Given the description of an element on the screen output the (x, y) to click on. 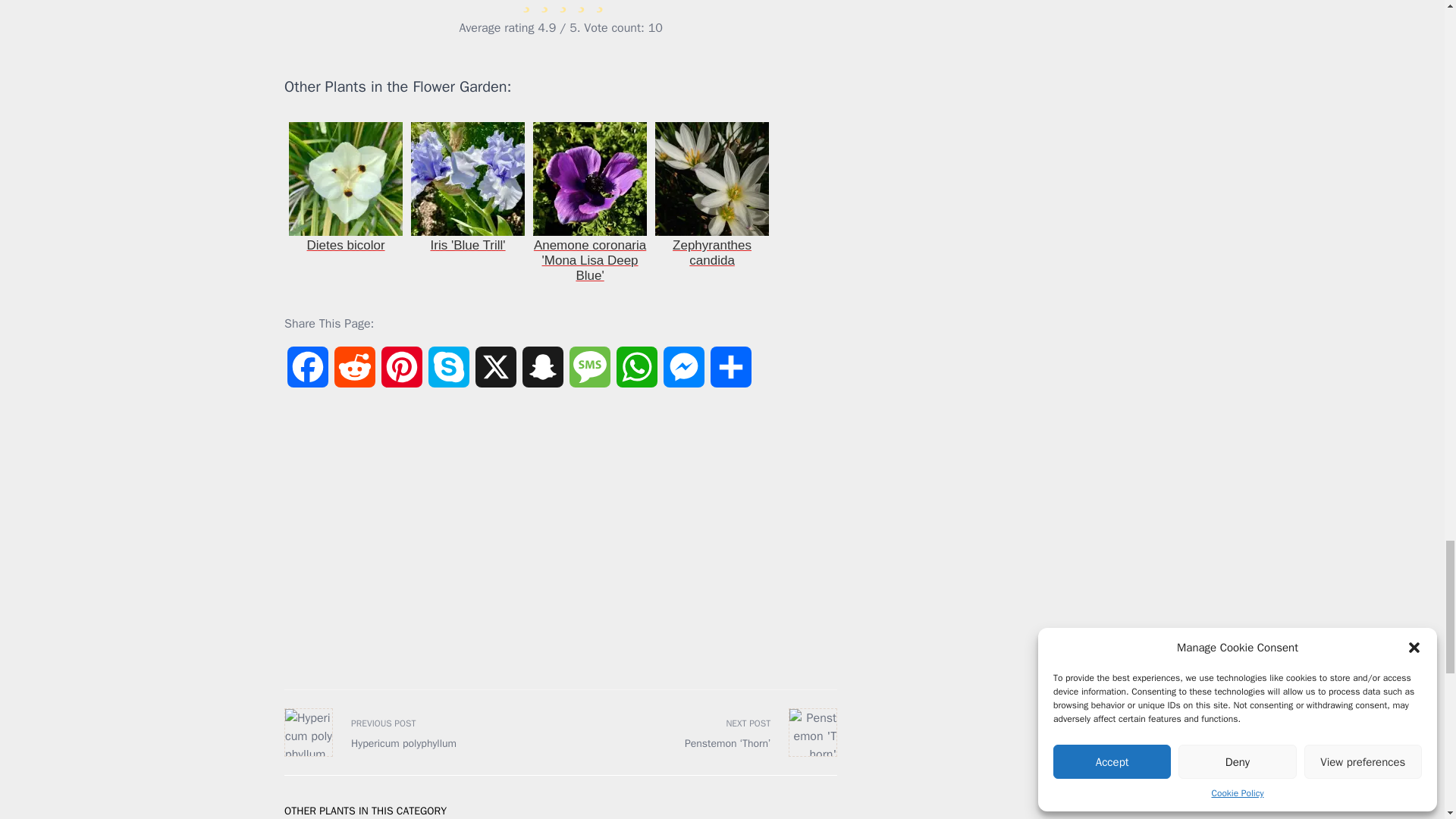
Message (589, 375)
X (495, 375)
WhatsApp (636, 375)
Skype (448, 375)
Reddit (354, 375)
Facebook (307, 375)
Snapchat (542, 375)
Messenger (684, 375)
Pinterest (401, 375)
